Given the description of an element on the screen output the (x, y) to click on. 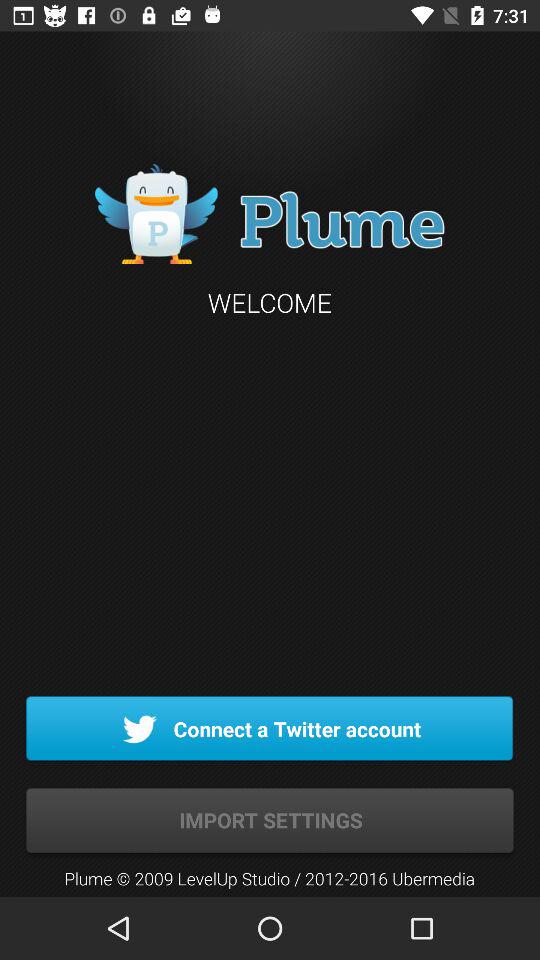
open the import settings item (269, 820)
